Given the description of an element on the screen output the (x, y) to click on. 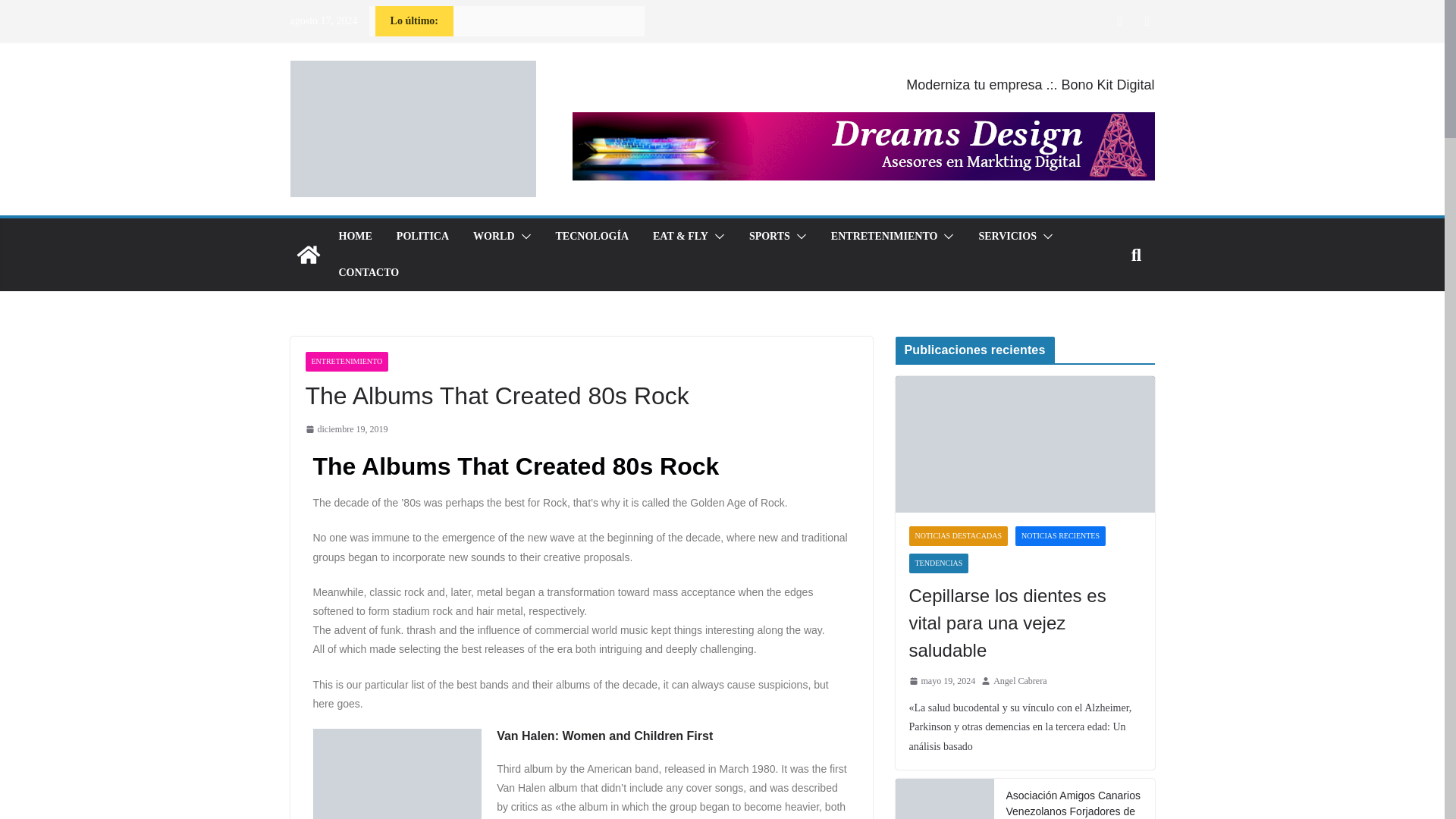
Asteria Magazine (307, 254)
SERVICIOS (1007, 236)
diciembre 19, 2019 (345, 429)
ENTRETENIMIENTO (346, 361)
SPORTS (769, 236)
Cepillarse los dientes es vital para una vejez saludable (1024, 443)
ENTRETENIMIENTO (884, 236)
HOME (354, 236)
8:49 am (345, 429)
CONTACTO (367, 272)
